Given the description of an element on the screen output the (x, y) to click on. 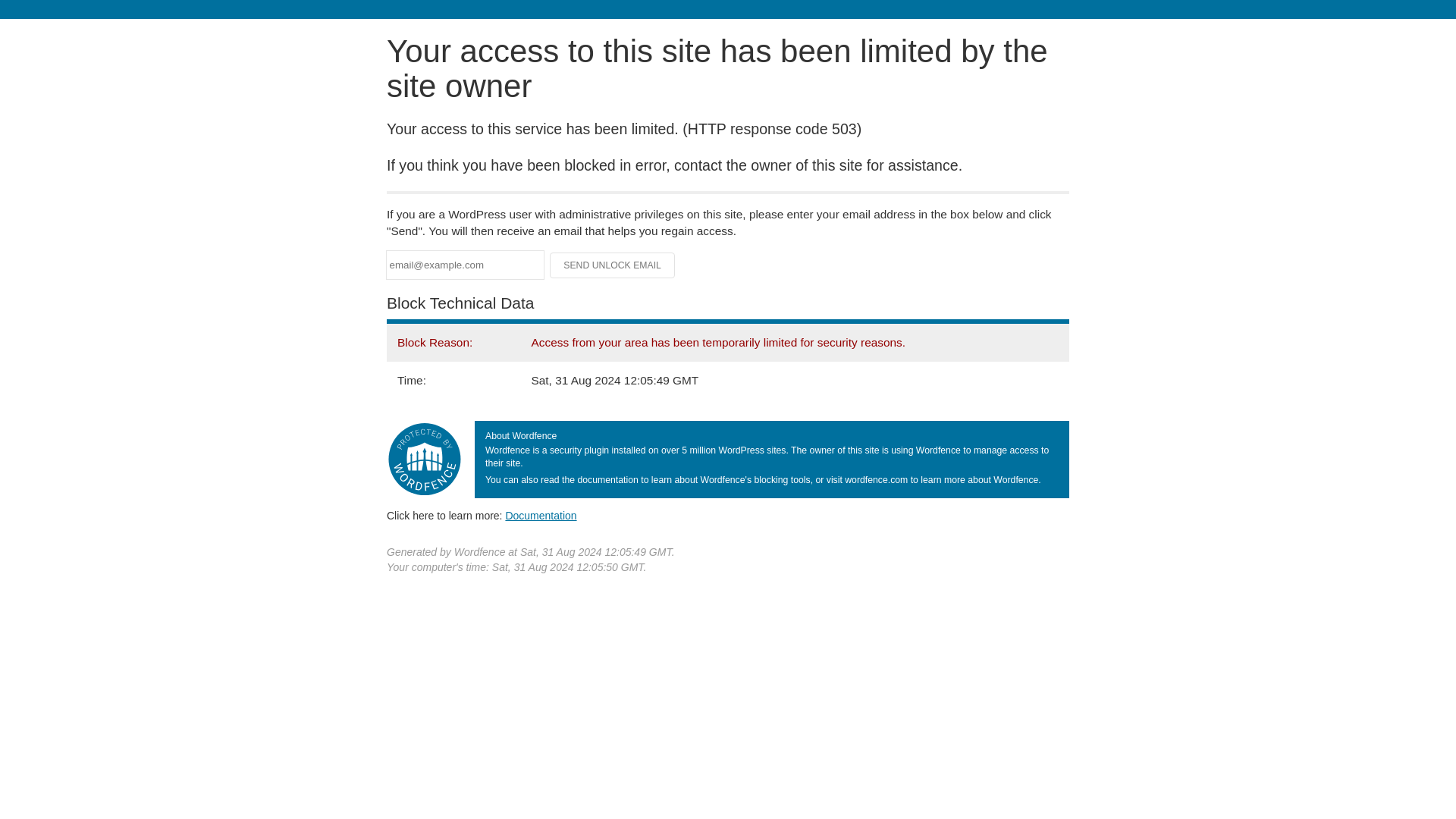
Send Unlock Email (612, 265)
Documentation (540, 515)
Send Unlock Email (612, 265)
